Given the description of an element on the screen output the (x, y) to click on. 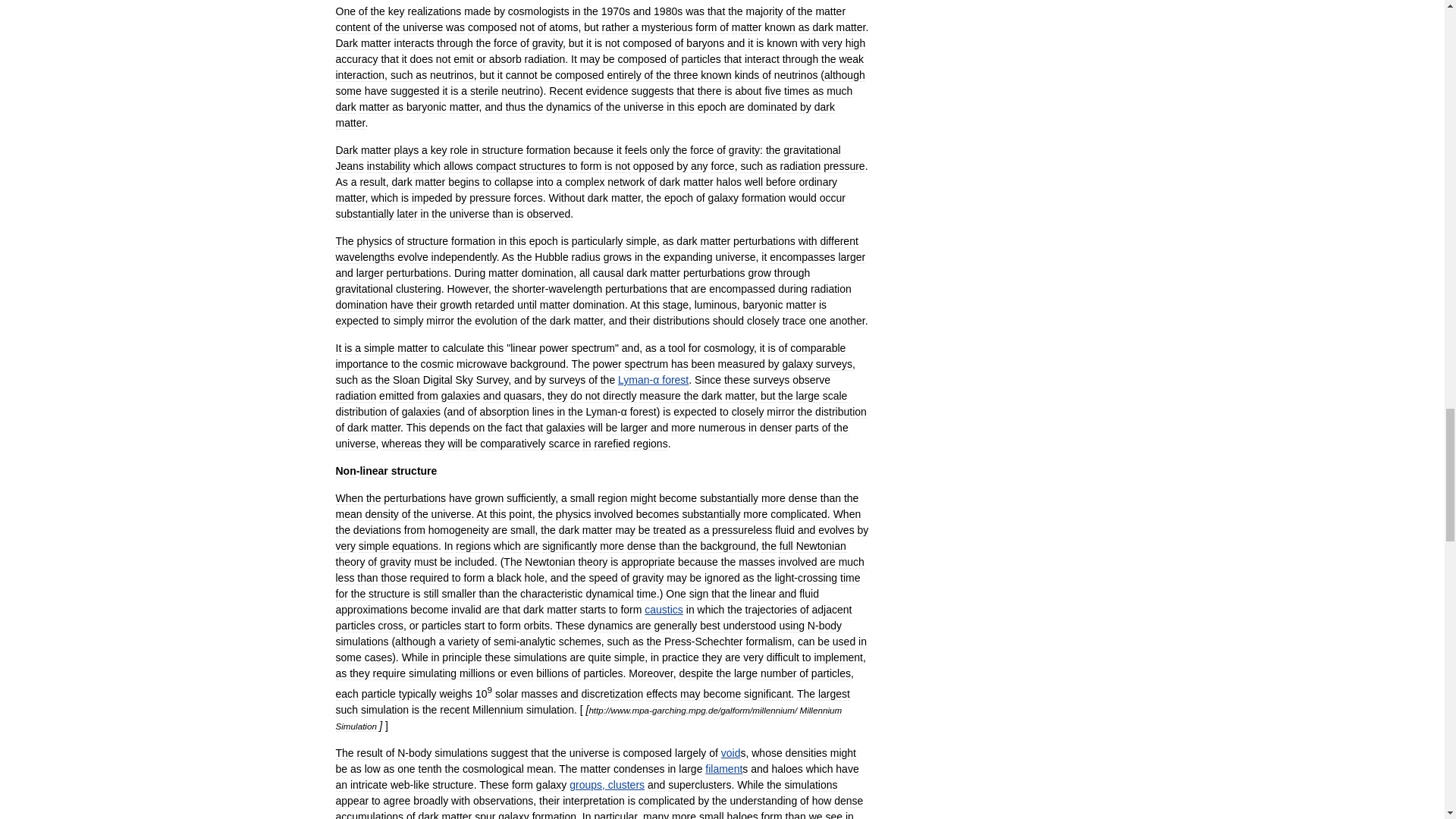
filament (723, 768)
groups, clusters (607, 784)
void (730, 752)
caustics (663, 609)
